Given the description of an element on the screen output the (x, y) to click on. 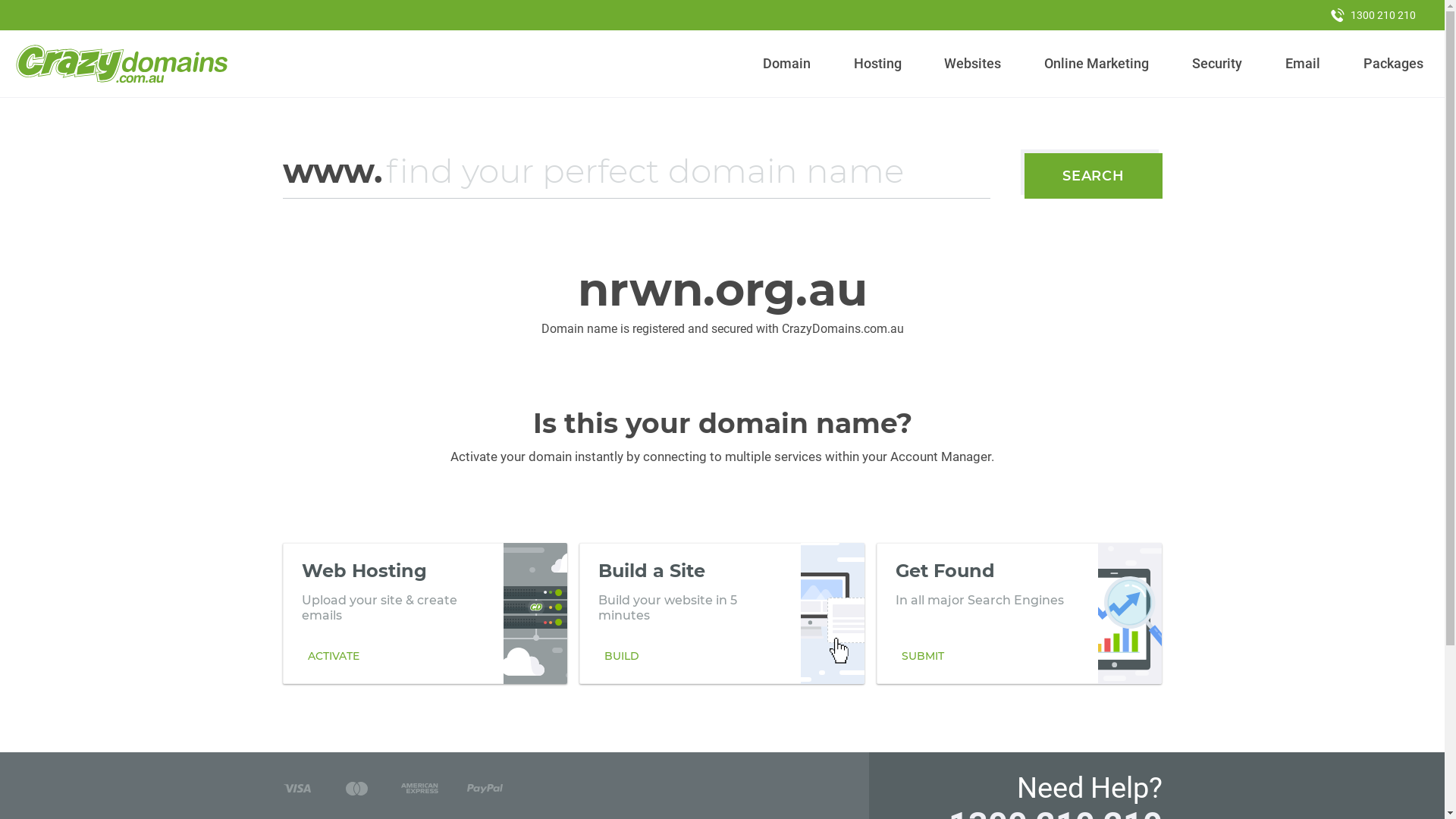
Online Marketing Element type: text (1096, 63)
Build a Site
Build your website in 5 minutes
BUILD Element type: text (721, 613)
Packages Element type: text (1392, 63)
Websites Element type: text (972, 63)
Email Element type: text (1302, 63)
Security Element type: text (1217, 63)
1300 210 210 Element type: text (1373, 15)
Domain Element type: text (786, 63)
Get Found
In all major Search Engines
SUBMIT Element type: text (1018, 613)
Hosting Element type: text (877, 63)
SEARCH Element type: text (1092, 175)
Web Hosting
Upload your site & create emails
ACTIVATE Element type: text (424, 613)
